Given the description of an element on the screen output the (x, y) to click on. 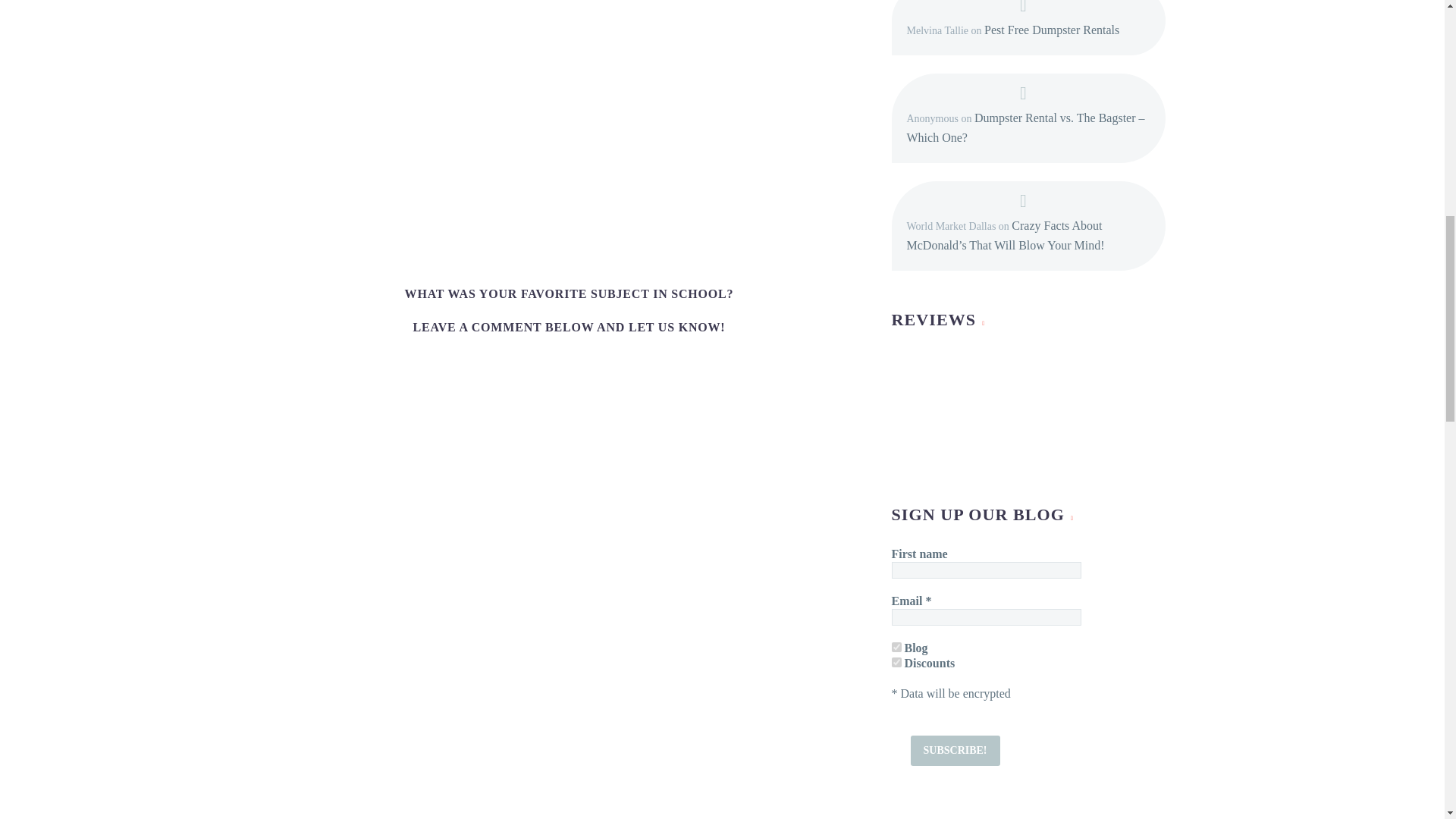
Subscribe! (954, 750)
Email (986, 617)
Pest Free Dumpster Rentals (1051, 29)
Subscribe! (954, 750)
Same Day Dumpsters LLC (1005, 407)
First name (986, 569)
4 (896, 646)
5 (896, 662)
